Given the description of an element on the screen output the (x, y) to click on. 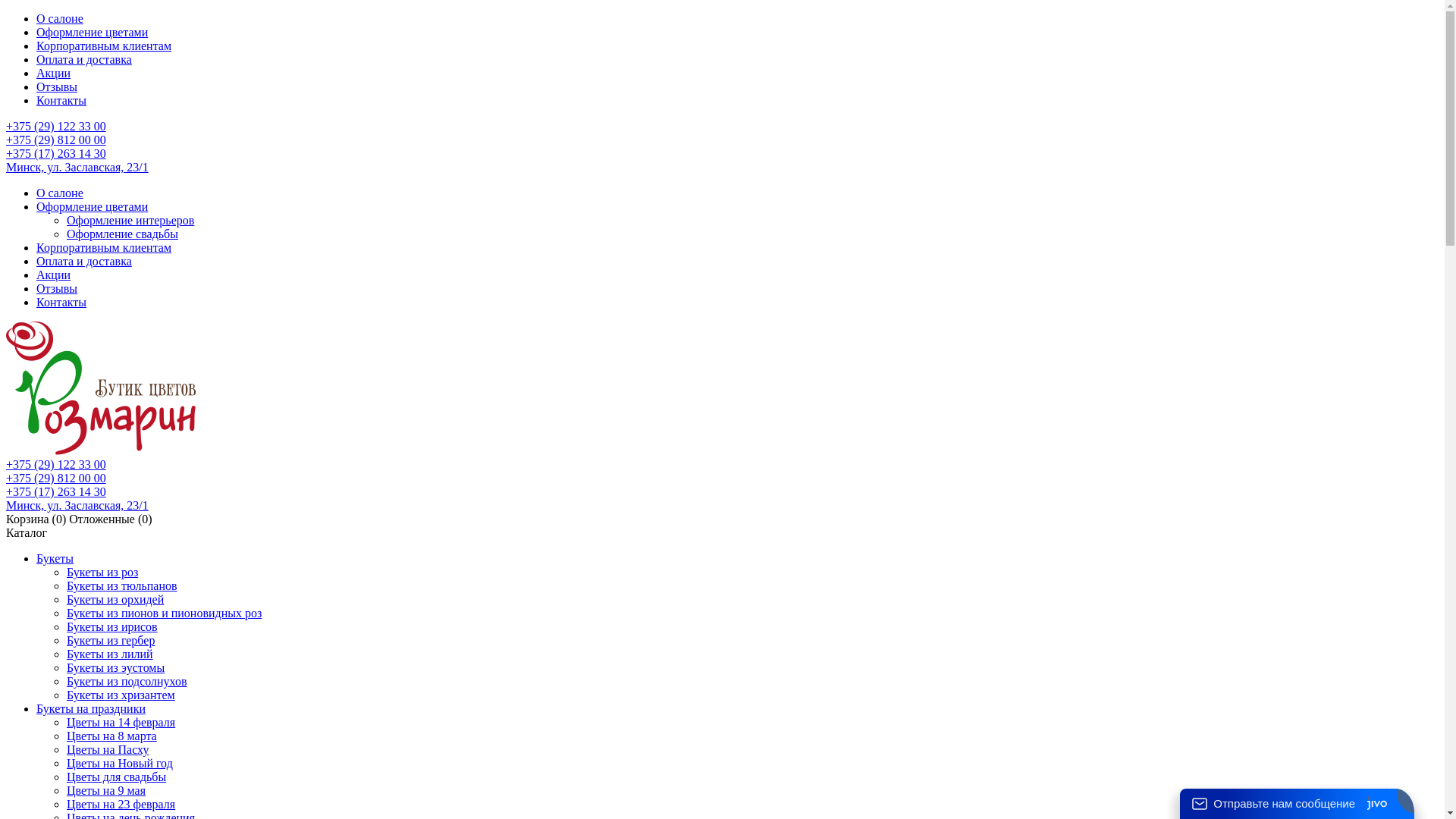
+375 (17) 263 14 30 Element type: text (56, 153)
+375 (29) 812 00 00 Element type: text (56, 139)
+375 (29) 122 33 00 Element type: text (56, 464)
+375 (17) 263 14 30 Element type: text (56, 491)
+375 (29) 122 33 00 Element type: text (56, 125)
+375 (29) 812 00 00 Element type: text (56, 477)
